Given the description of an element on the screen output the (x, y) to click on. 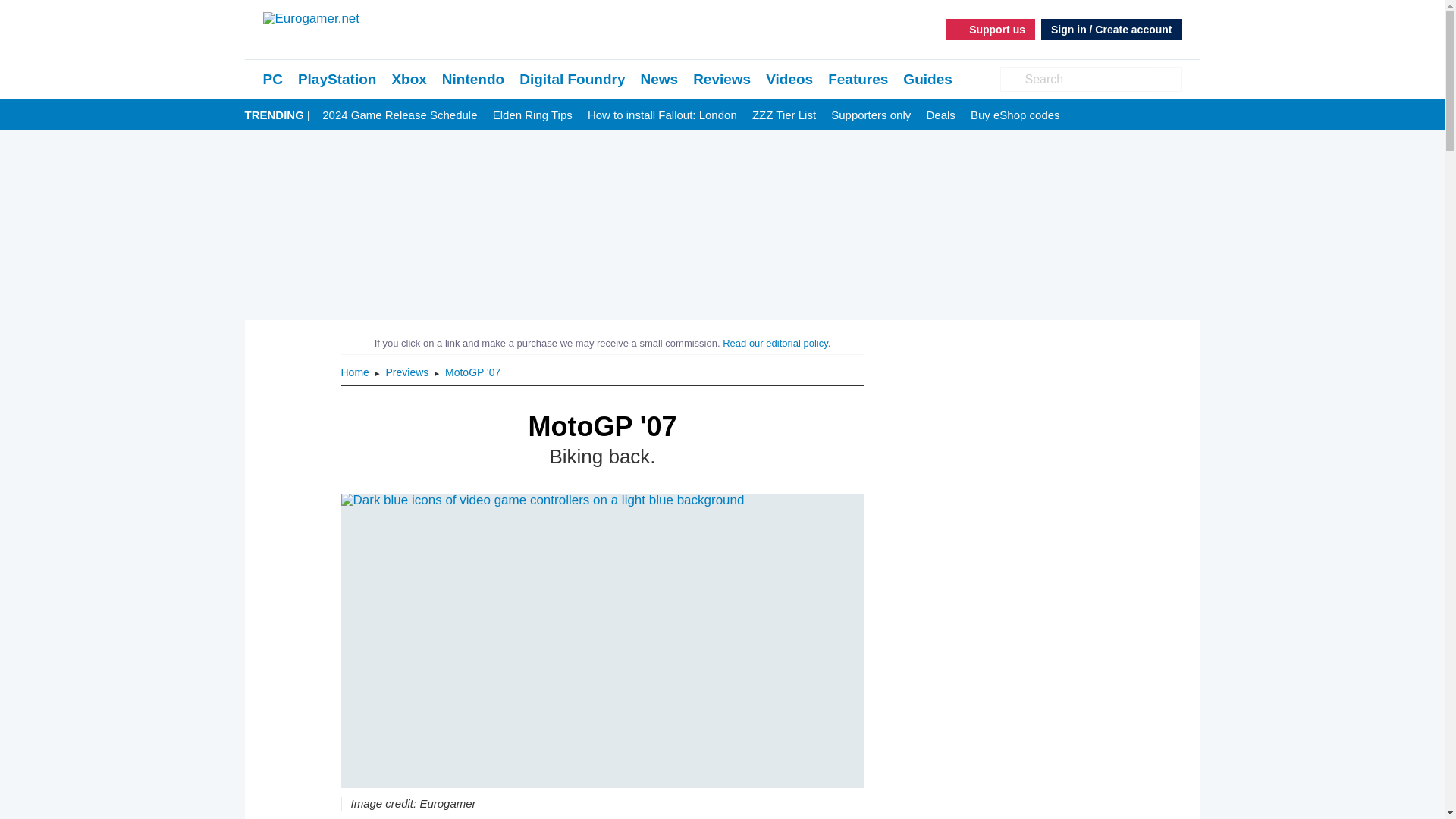
Nintendo (472, 78)
Digital Foundry (571, 78)
Videos (788, 78)
How to install Fallout: London (662, 114)
Reviews (722, 78)
Reviews (722, 78)
Guides (927, 78)
2024 Game Release Schedule (399, 114)
Supporters only (871, 114)
Previews (408, 372)
